Given the description of an element on the screen output the (x, y) to click on. 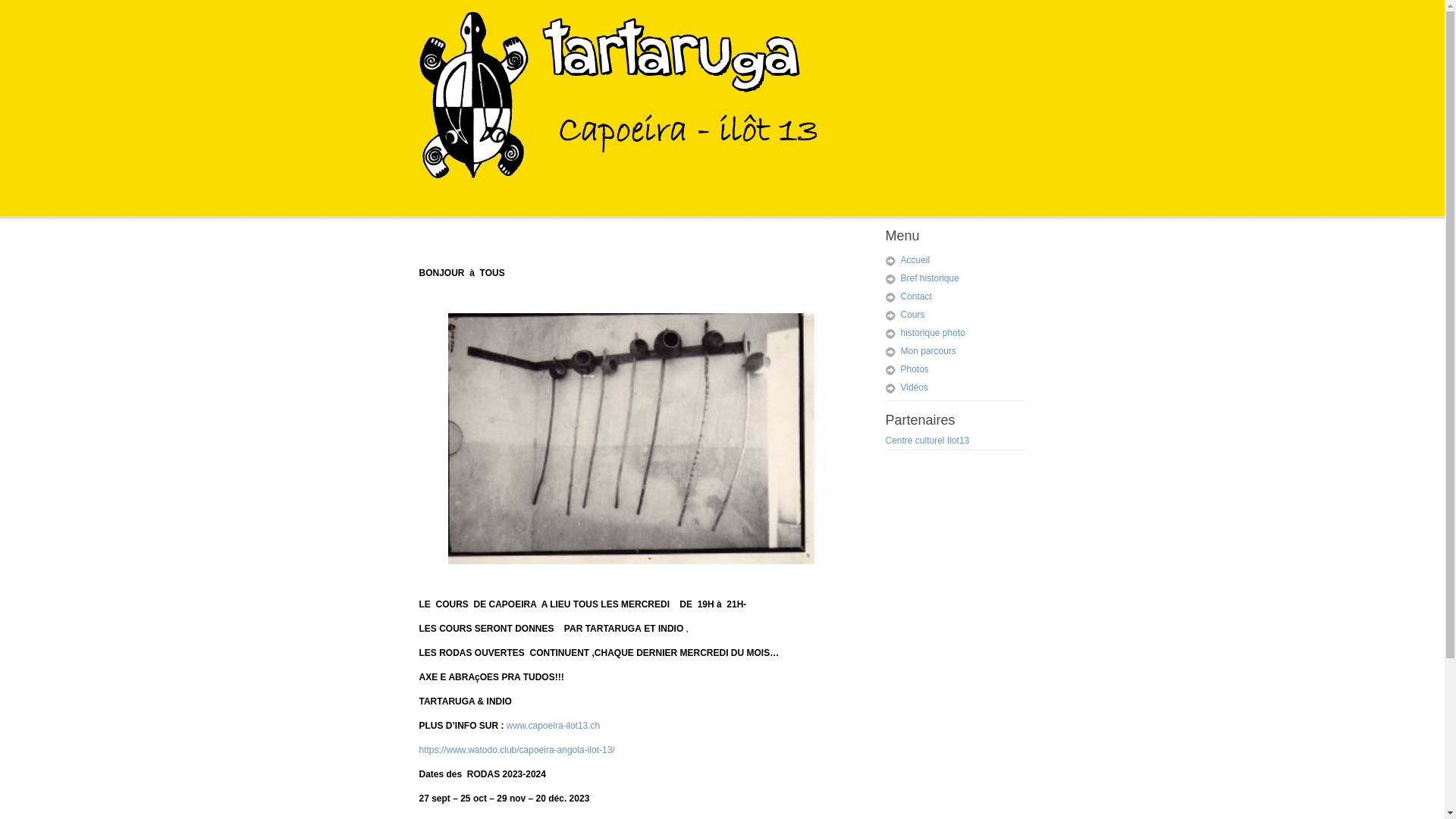
www.capoeira-ilot13.ch Element type: text (552, 725)
https://www.watodo.club/capoeira-angola-ilot-13/ Element type: text (516, 749)
Contact Element type: text (915, 296)
Bref historique Element type: text (929, 278)
Accueil Element type: text (915, 259)
Centre culturel Ilot13 Element type: text (927, 440)
Mon parcours Element type: text (928, 350)
historique photo Element type: text (932, 332)
Photos Element type: text (914, 369)
Cours Element type: text (912, 314)
